Given the description of an element on the screen output the (x, y) to click on. 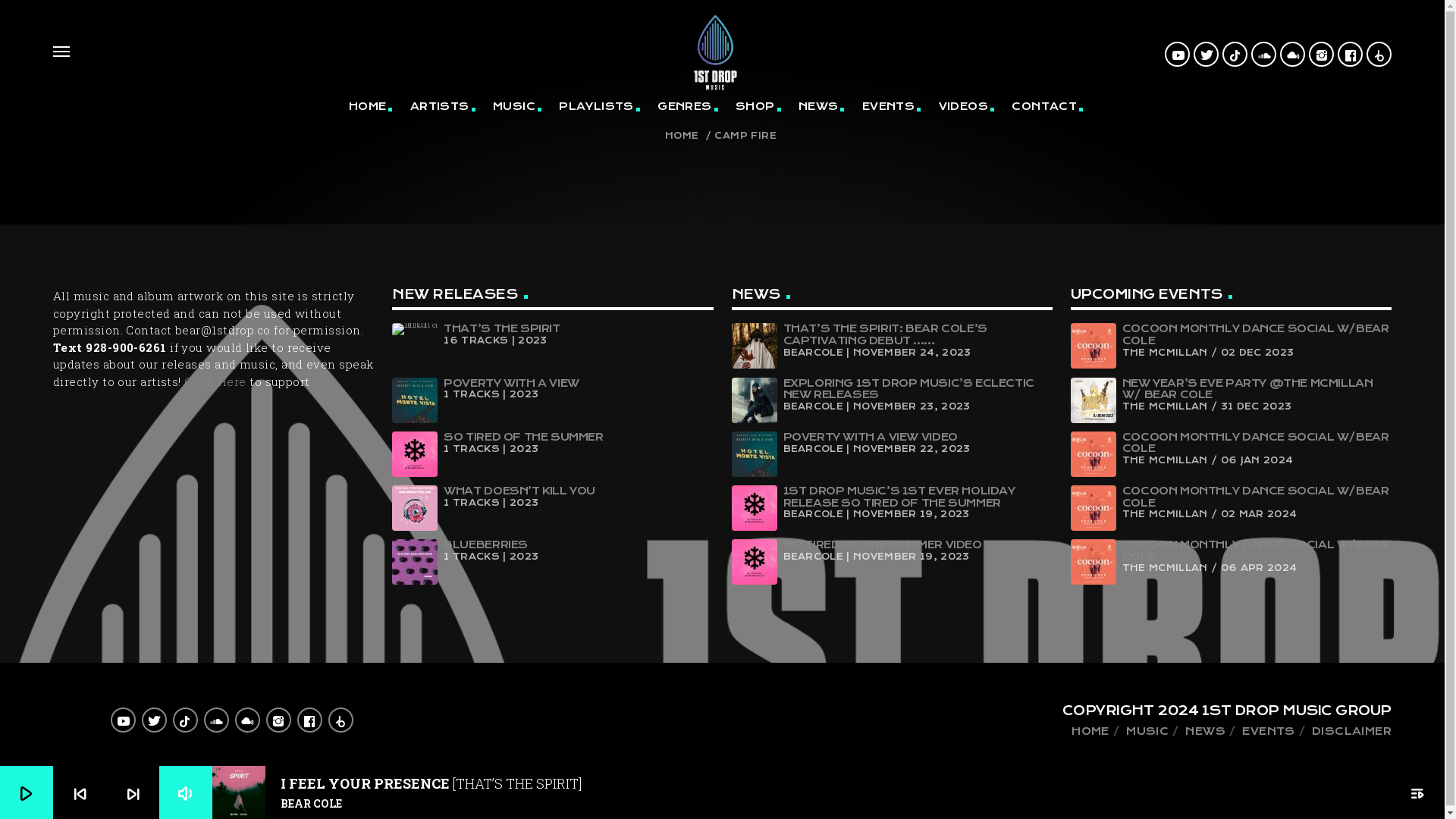
PLAYLISTS Element type: text (597, 106)
COCOON MONTHLY DANCE SOCIAL W/BEAR COLE Element type: text (1255, 442)
POVERTY WITH A VIEW VIDEO Element type: text (869, 436)
EVENTS Element type: text (889, 106)
LEAF DIVE Element type: text (325, 99)
HOME Element type: text (683, 135)
HOME Element type: text (1090, 730)
COCOON MONTHLY DANCE SOCIAL W/BEAR COLE Element type: text (1255, 550)
HOME Element type: text (369, 106)
POVERTY WITH A VIEW Element type: text (511, 382)
CONTACT Element type: text (1045, 106)
COCOON MONTHLY DANCE SOCIAL W/BEAR COLE Element type: text (1255, 334)
MUSIC Element type: text (515, 106)
EVENTS Element type: text (1268, 730)
SHOP Element type: text (756, 106)
MUSIC Element type: text (1147, 730)
Click Here Element type: text (215, 381)
GENRES Element type: text (685, 106)
SO TIRED OF THE SUMMER Element type: text (522, 436)
NEWS Element type: text (819, 106)
NEWS Element type: text (1205, 730)
BLUEBERRIES Element type: text (485, 544)
DISCLAIMER Element type: text (1351, 730)
VIDEOS Element type: text (964, 106)
SO TIRED OF THE SUMMER VIDEO Element type: text (881, 544)
ARTISTS Element type: text (441, 106)
COCOON MONTHLY DANCE SOCIAL W/BEAR COLE Element type: text (1255, 496)
